Given the description of an element on the screen output the (x, y) to click on. 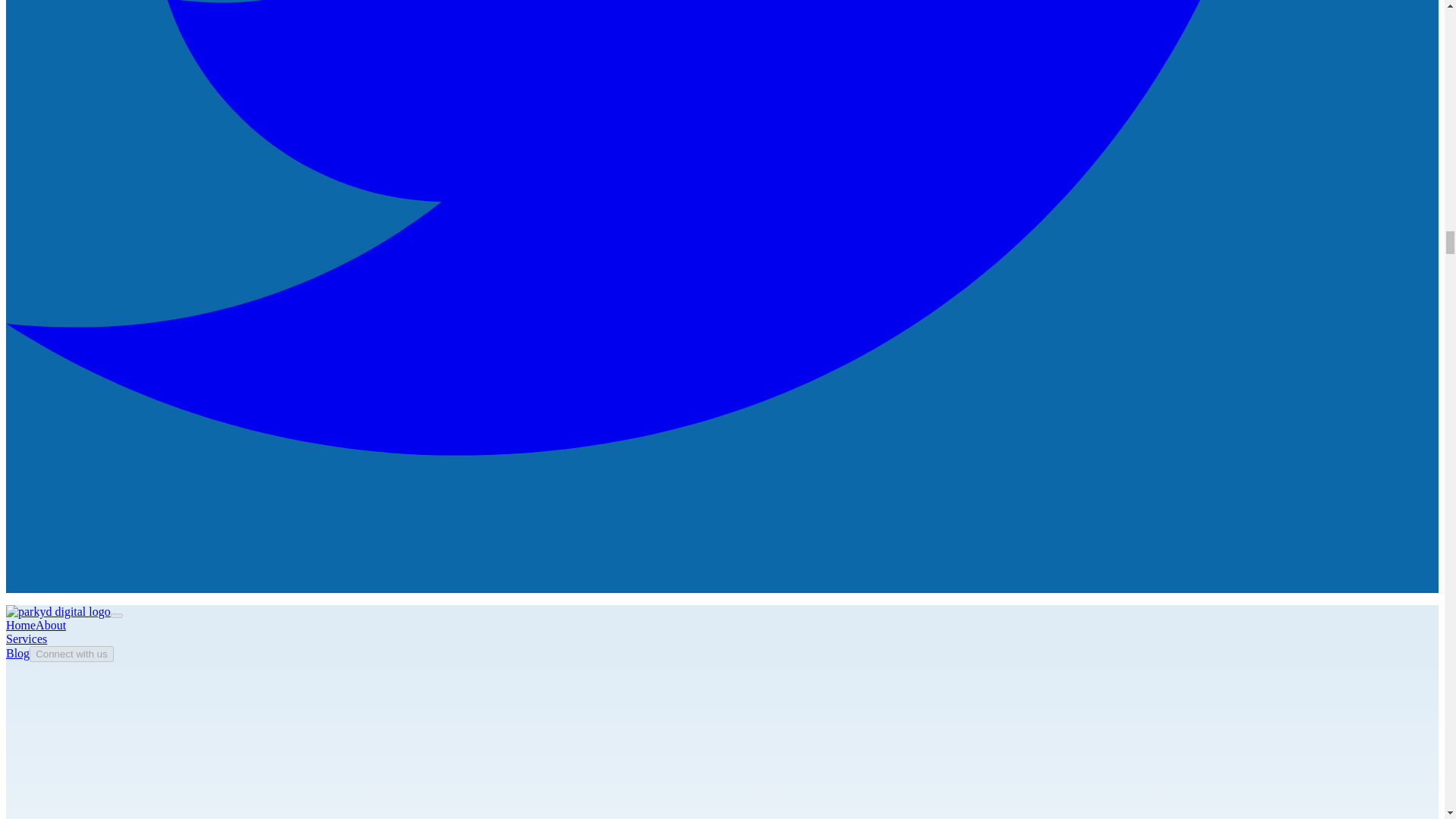
Services (25, 638)
About (49, 625)
Blog (17, 653)
Connect with us (71, 653)
Connect with us (71, 653)
Home (19, 625)
